Given the description of an element on the screen output the (x, y) to click on. 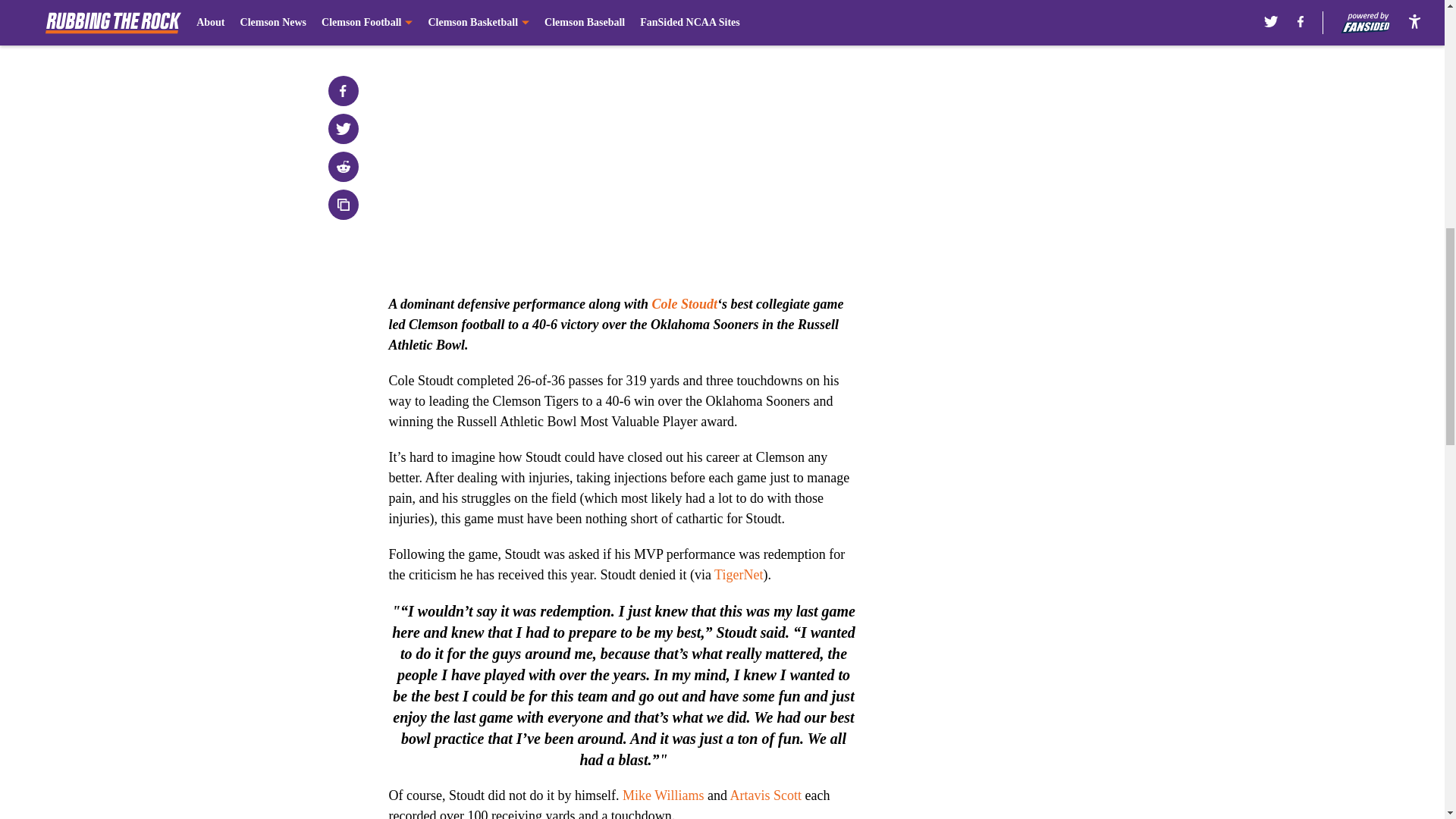
TigerNet (738, 574)
Mike Williams (663, 795)
Cole Stoudt (684, 304)
Artavis Scott (765, 795)
